Given the description of an element on the screen output the (x, y) to click on. 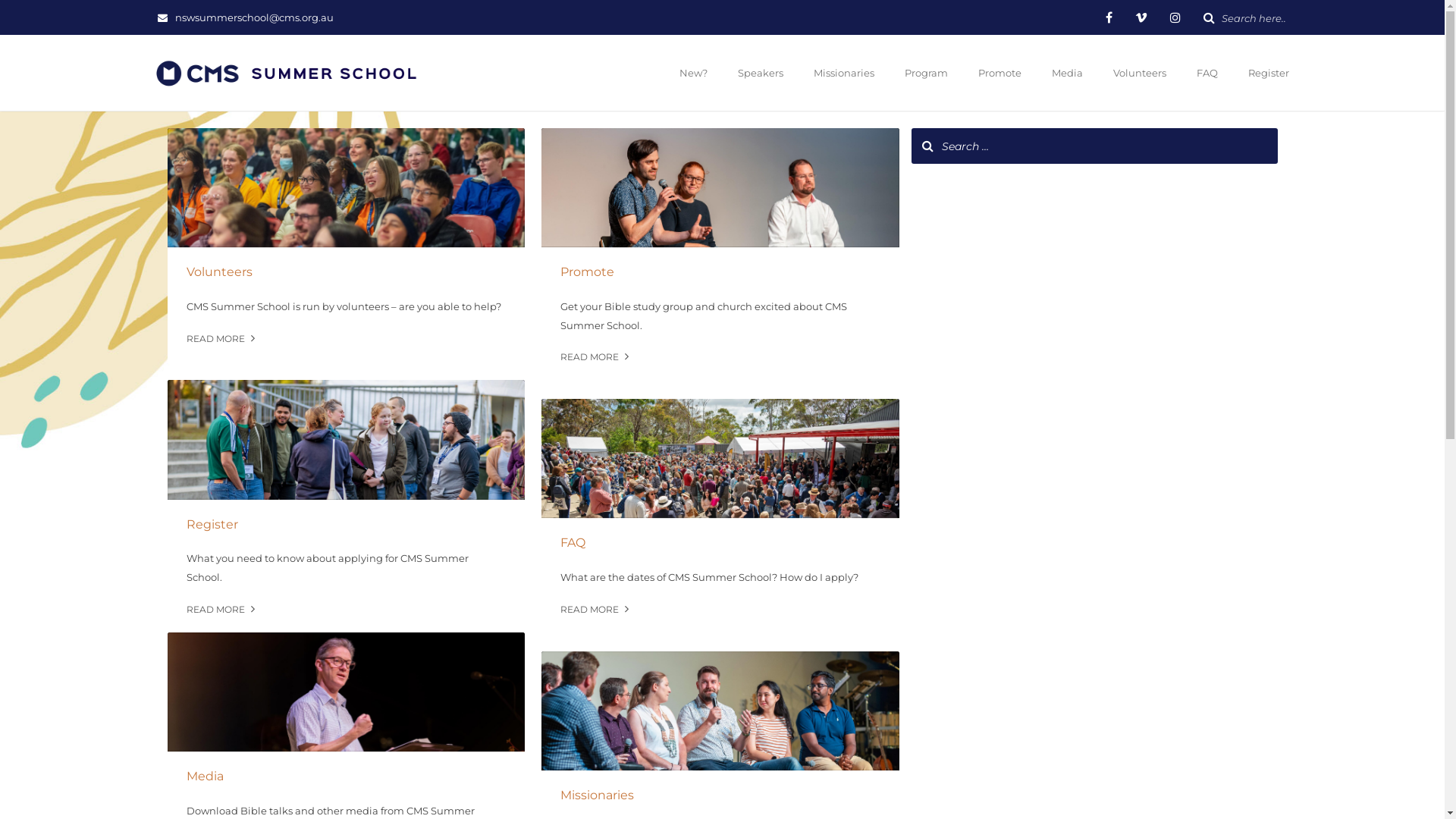
FAQ Element type: text (1206, 73)
READ MORE Element type: text (596, 356)
Search Element type: text (23, 9)
FAQ Element type: text (720, 542)
New? Element type: text (692, 73)
nswsummerschool@cms.org.au Element type: text (256, 17)
Promote Element type: text (720, 272)
Register Element type: text (346, 524)
Speakers Element type: text (760, 73)
Missionaries Element type: text (720, 795)
Volunteers Element type: text (1138, 73)
READ MORE Element type: text (222, 338)
Media Element type: text (1067, 73)
Register Element type: text (1265, 73)
Missionaries Element type: text (843, 73)
READ MORE Element type: text (222, 609)
Program Element type: text (925, 73)
Volunteers Element type: text (346, 272)
Promote Element type: text (998, 73)
Media Element type: text (346, 776)
READ MORE Element type: text (596, 609)
